Given the description of an element on the screen output the (x, y) to click on. 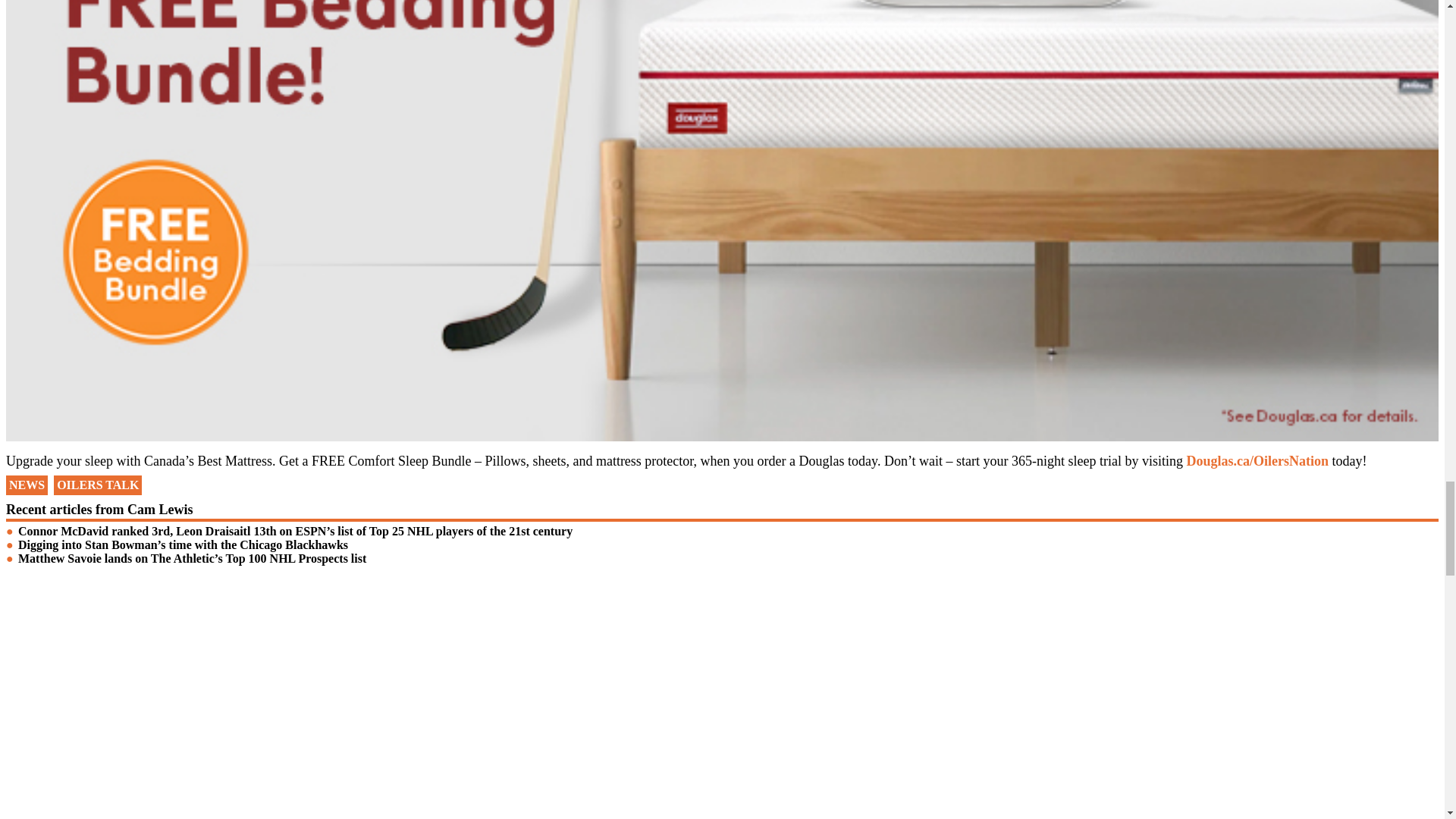
NEWS (26, 485)
OILERS TALK (97, 485)
